Given the description of an element on the screen output the (x, y) to click on. 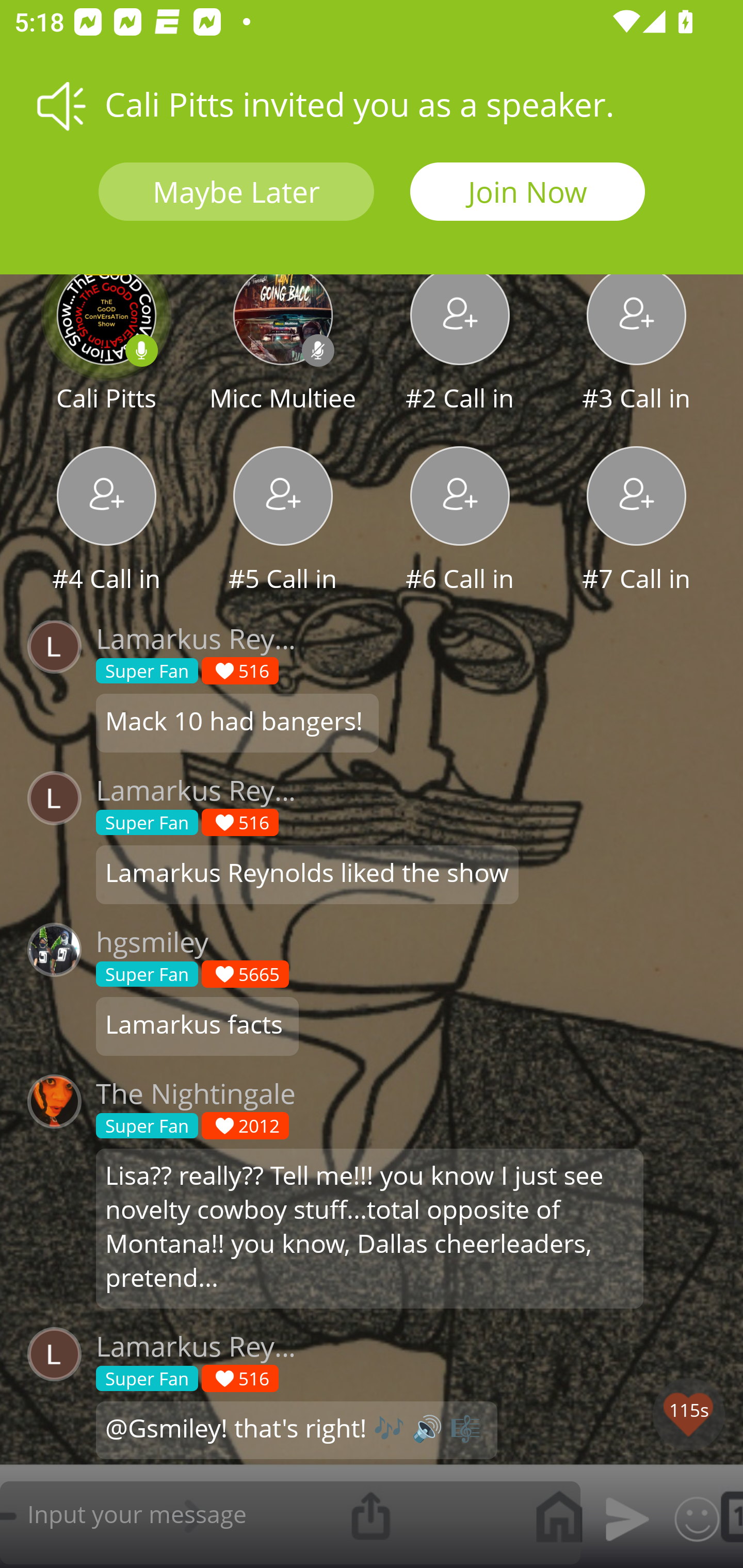
Maybe Later (235, 192)
Join Now (527, 192)
HOST Cali Pitts (105, 340)
Micc Multiee (282, 340)
#2 Call in (459, 340)
#3 Call in (636, 340)
#4 Call in (105, 521)
#5 Call in (282, 521)
#6 Call in (459, 521)
#7 Call in (636, 521)
Input your message (289, 1513)
